Given the description of an element on the screen output the (x, y) to click on. 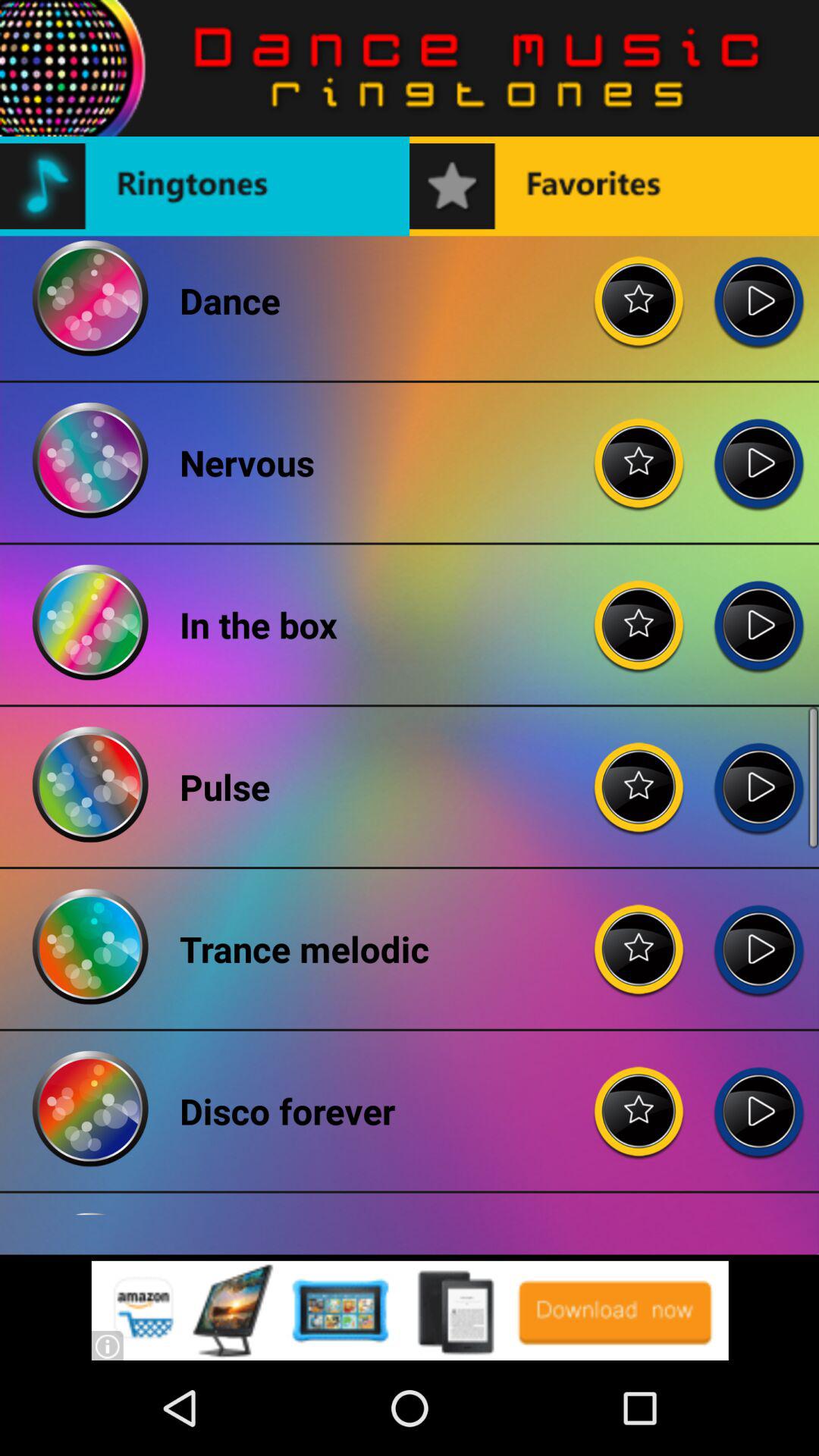
favorite (639, 775)
